Given the description of an element on the screen output the (x, y) to click on. 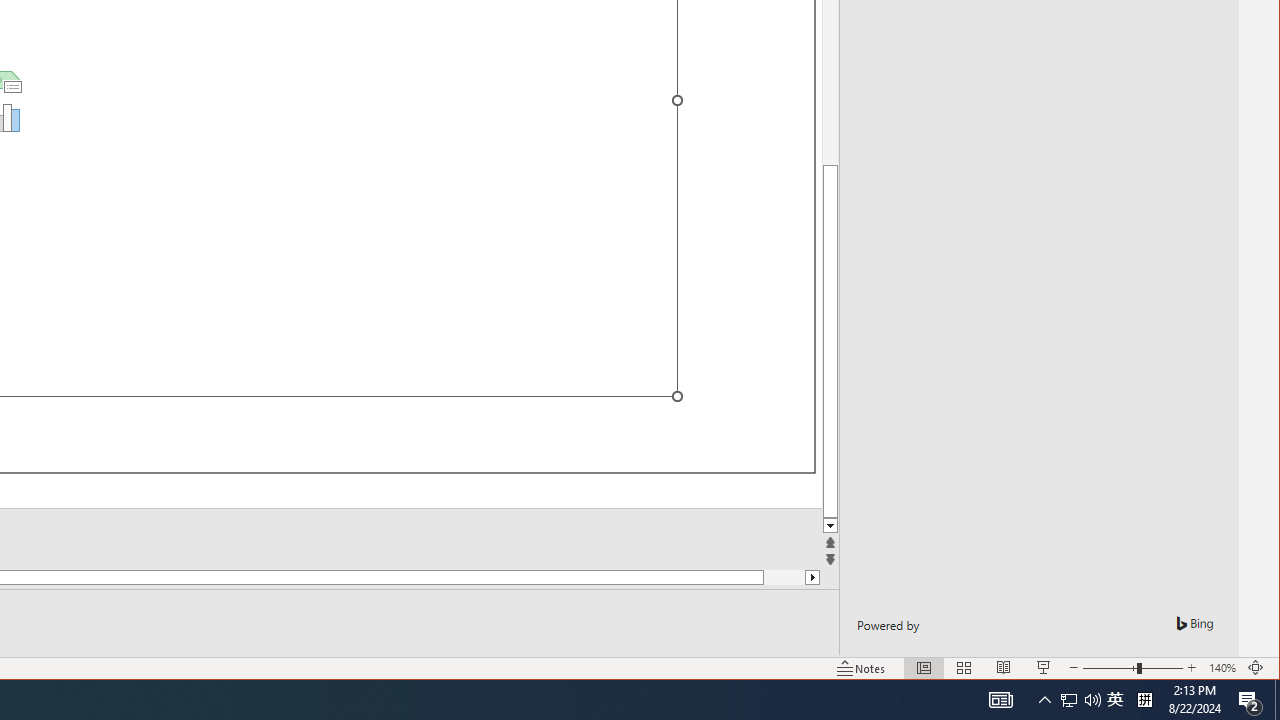
Zoom (1132, 668)
Reading View (1004, 668)
Zoom 140% (1222, 668)
Line down (1115, 699)
Notification Chevron (829, 525)
Page down (1044, 699)
User Promoted Notification Area (764, 577)
Show desktop (1080, 699)
Tray Input Indicator - Chinese (Simplified, China) (1277, 699)
AutomationID: 4105 (1069, 699)
Zoom In (1144, 699)
Slide Sorter (1000, 699)
Zoom Out (1191, 668)
